Given the description of an element on the screen output the (x, y) to click on. 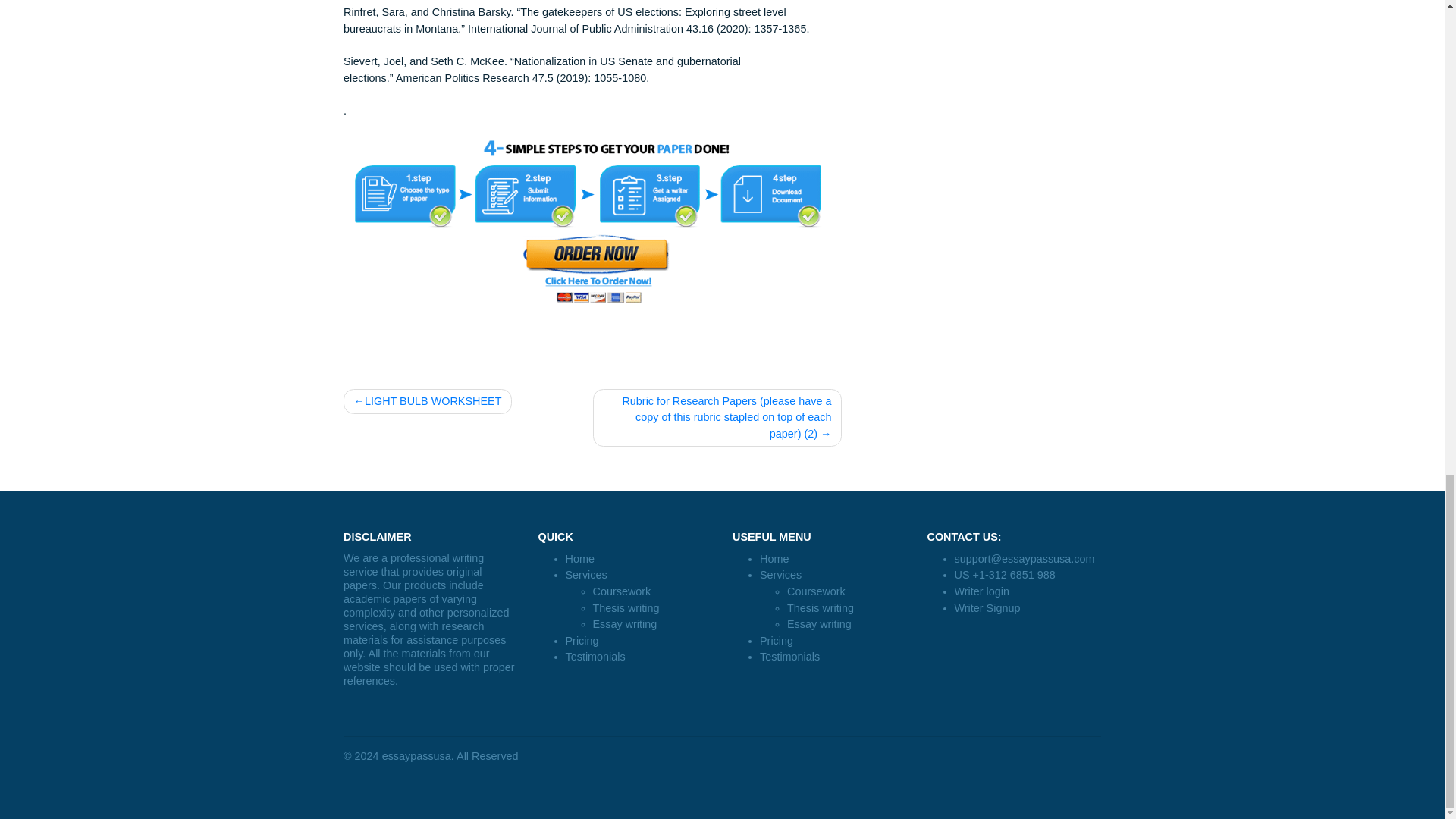
Services (650, 766)
Services (866, 766)
Home (860, 747)
Coursework (690, 784)
Coursework (907, 784)
Thesis writing (912, 802)
Writer login (1090, 784)
Essay writing (909, 816)
Thesis writing (695, 802)
Essay writing (693, 816)
Writer Signup (1096, 802)
Home (644, 747)
LIGHT BULB WORKSHEET (475, 572)
